Given the description of an element on the screen output the (x, y) to click on. 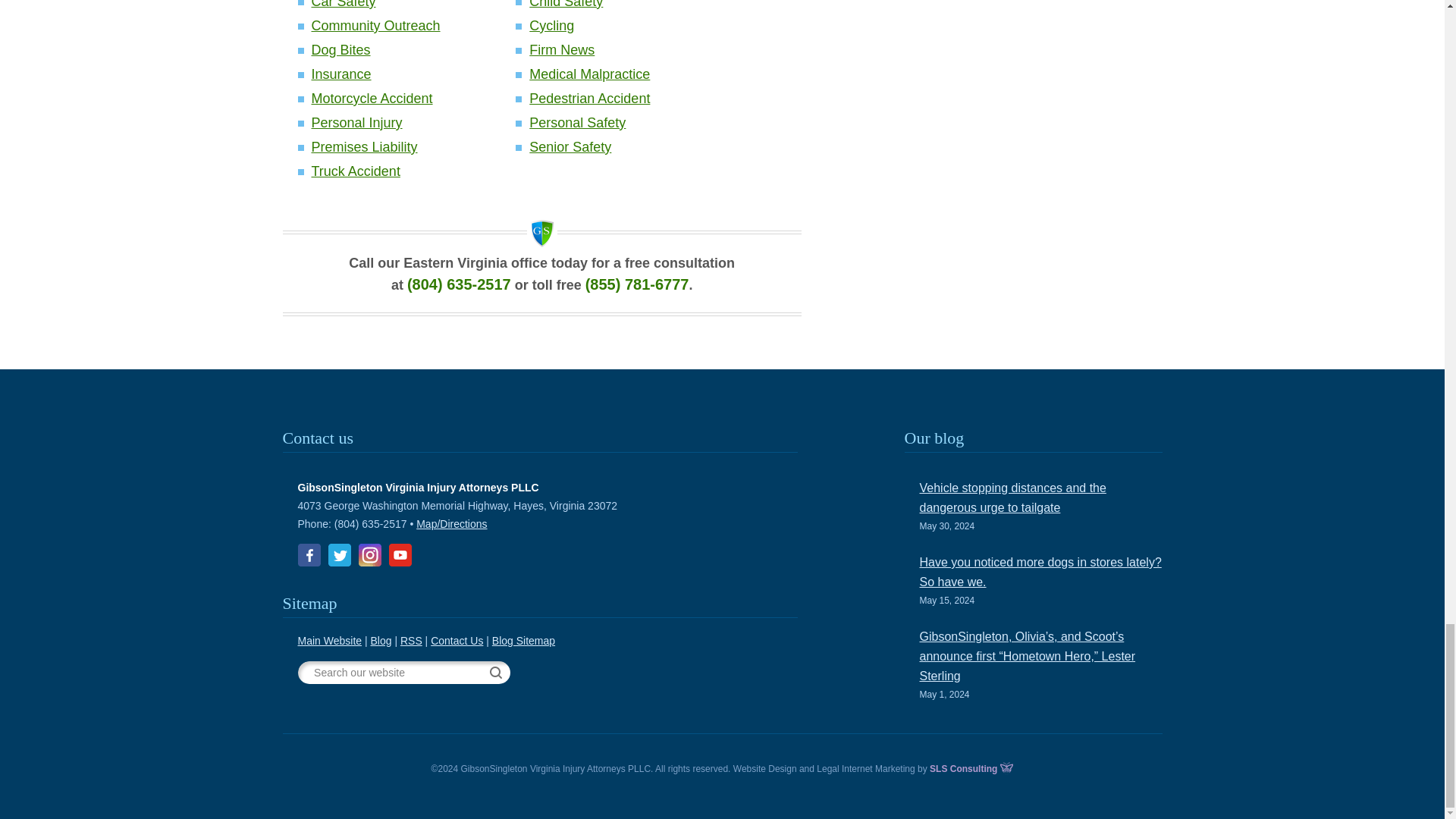
Have you noticed more dogs in stores lately? So have we. (1039, 572)
Follow us on Facebook (308, 554)
Search our website (395, 671)
Search our website (395, 671)
Instagram (369, 554)
Follow us on Twitter (338, 554)
View our YouTube Videos (399, 554)
